Given the description of an element on the screen output the (x, y) to click on. 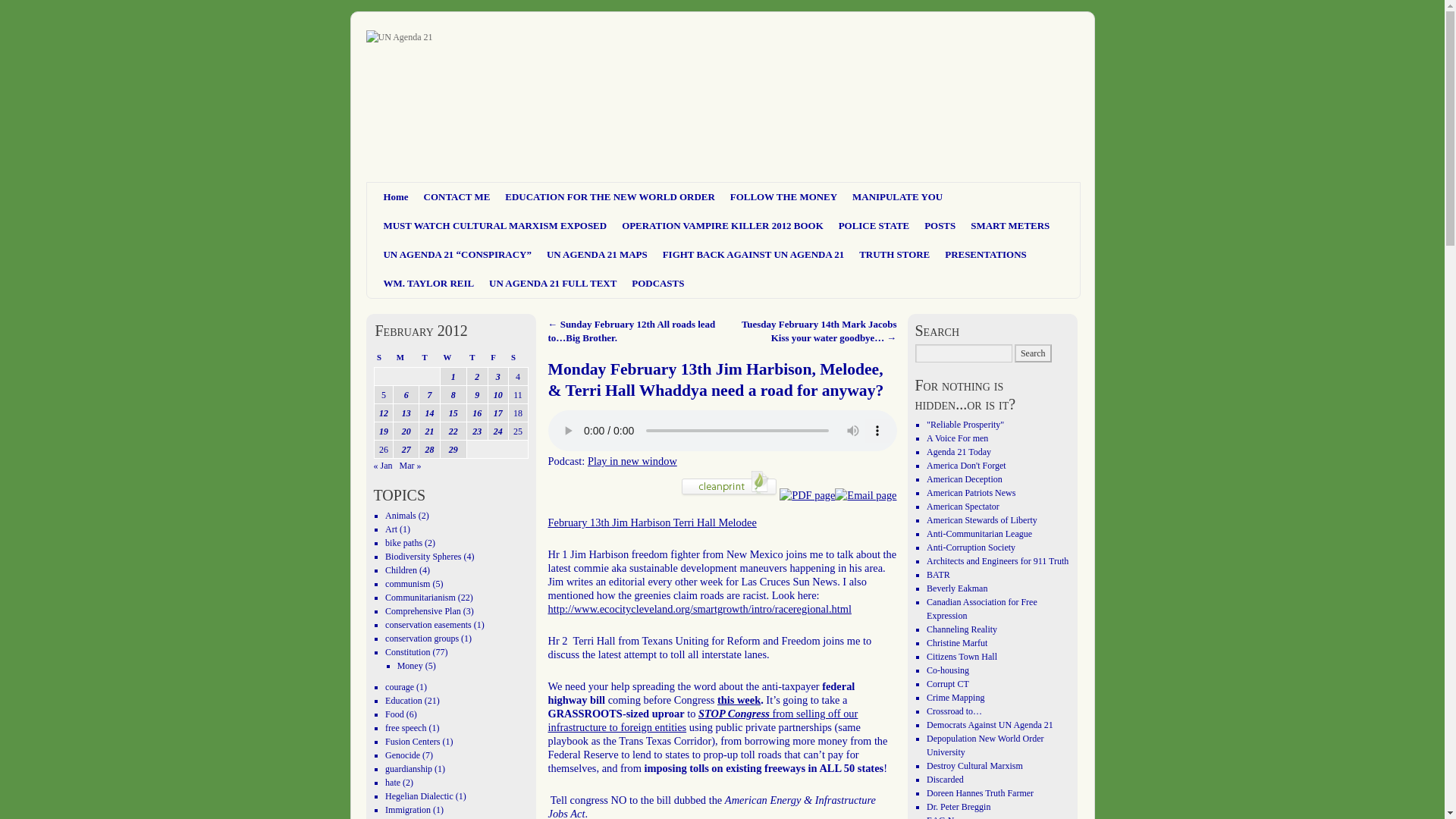
Wednesday (452, 357)
PDF page (806, 494)
Saturday (517, 357)
MUST WATCH CULTURAL MARXISM EXPOSED (494, 225)
EDUCATION FOR THE NEW WORLD ORDER (609, 196)
Exposing hatred of men (957, 438)
Print page (728, 494)
 UN Agenda 21 info (966, 465)
February 13th Jim Harbison Terri Hall Melodee (651, 522)
Monday (406, 357)
Search (1032, 352)
PODCASTS (657, 283)
FIGHT BACK AGAINST UN AGENDA 21 (753, 254)
FOLLOW THE MONEY (783, 196)
Home (395, 196)
